Given the description of an element on the screen output the (x, y) to click on. 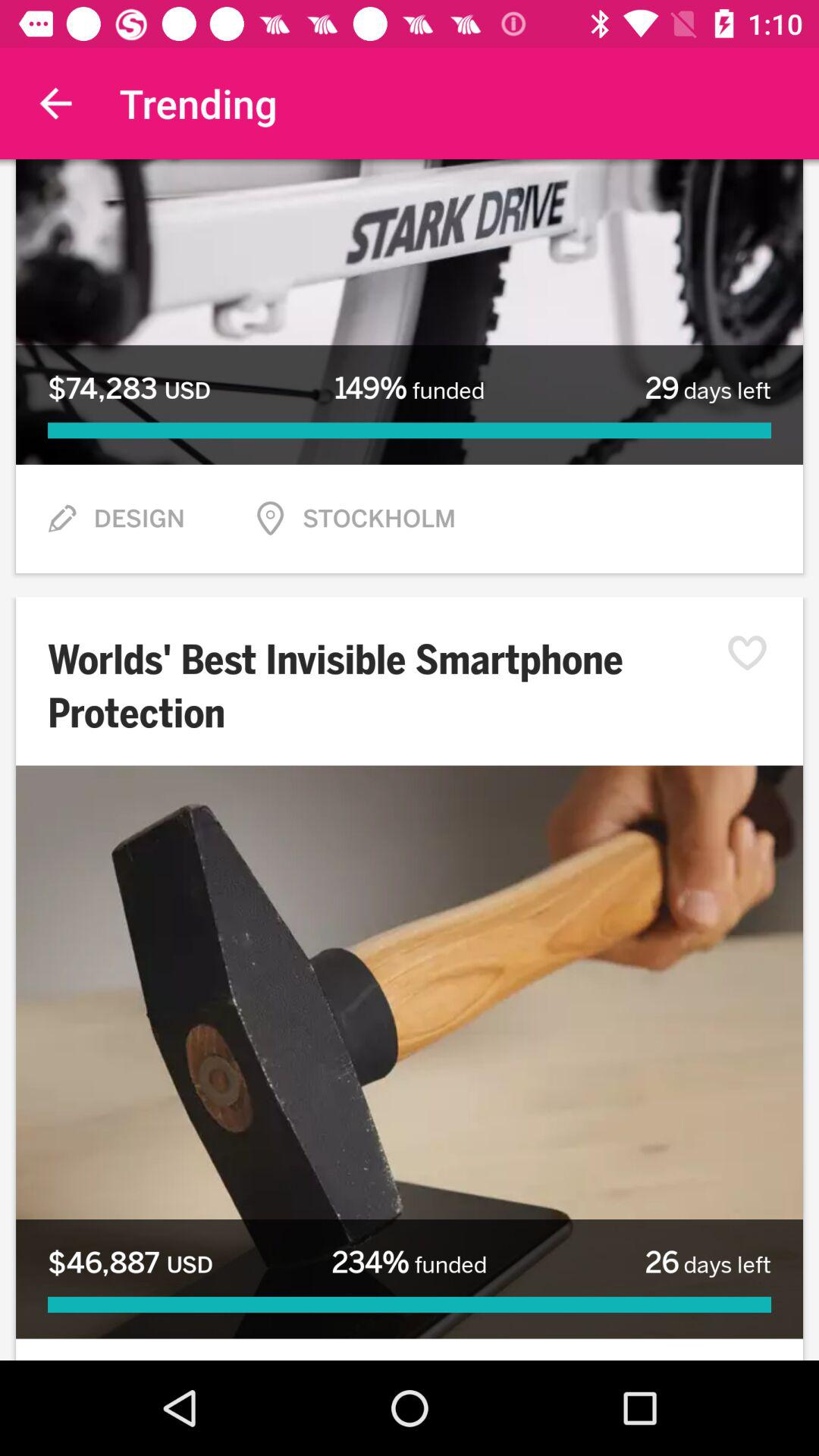
choose item to the left of 29 days left icon (409, 388)
